Given the description of an element on the screen output the (x, y) to click on. 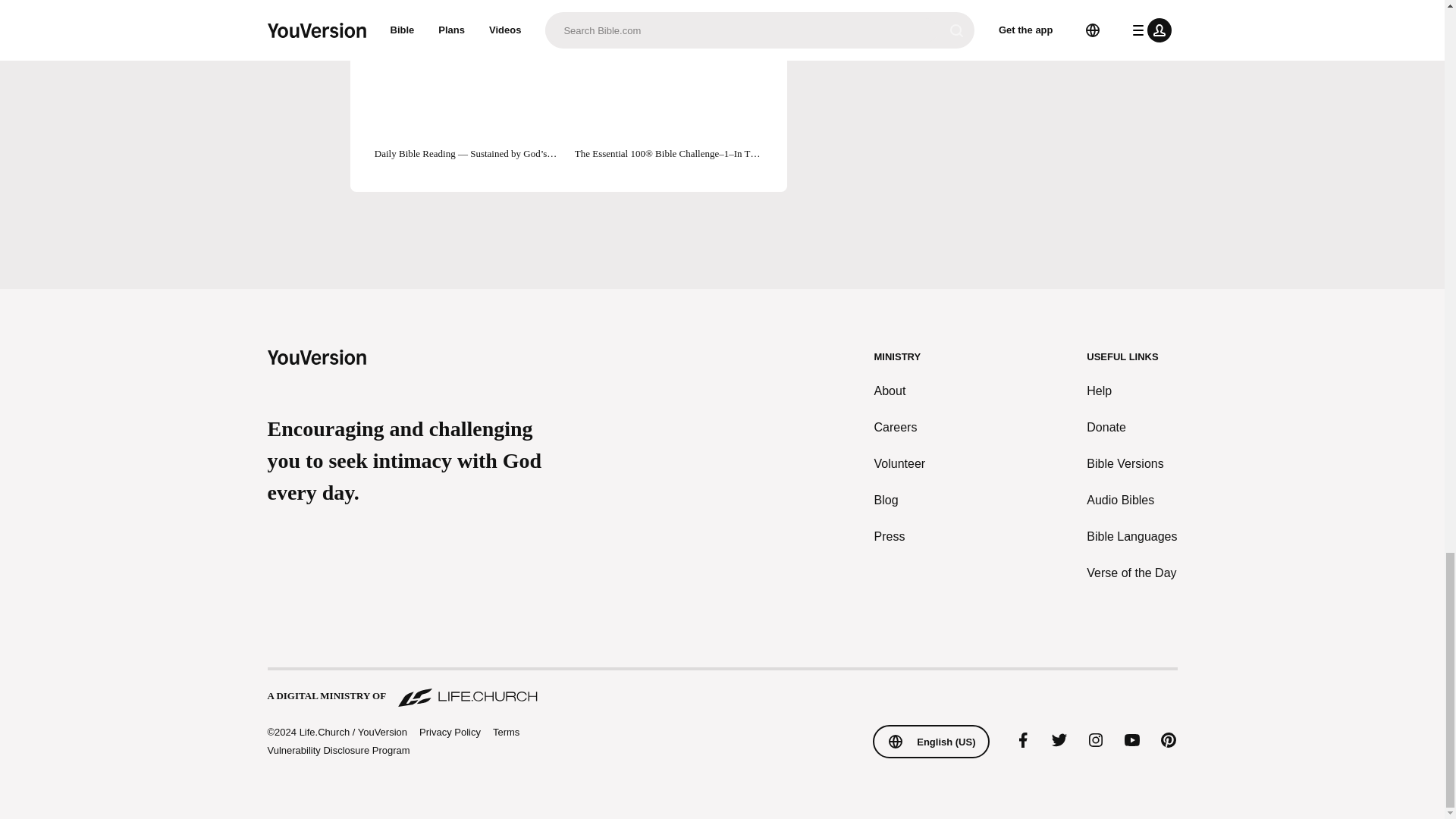
Reading the Bible in Historical Sequence Part 1 (668, 8)
Careers (900, 427)
About (900, 391)
The Thread (468, 8)
